Given the description of an element on the screen output the (x, y) to click on. 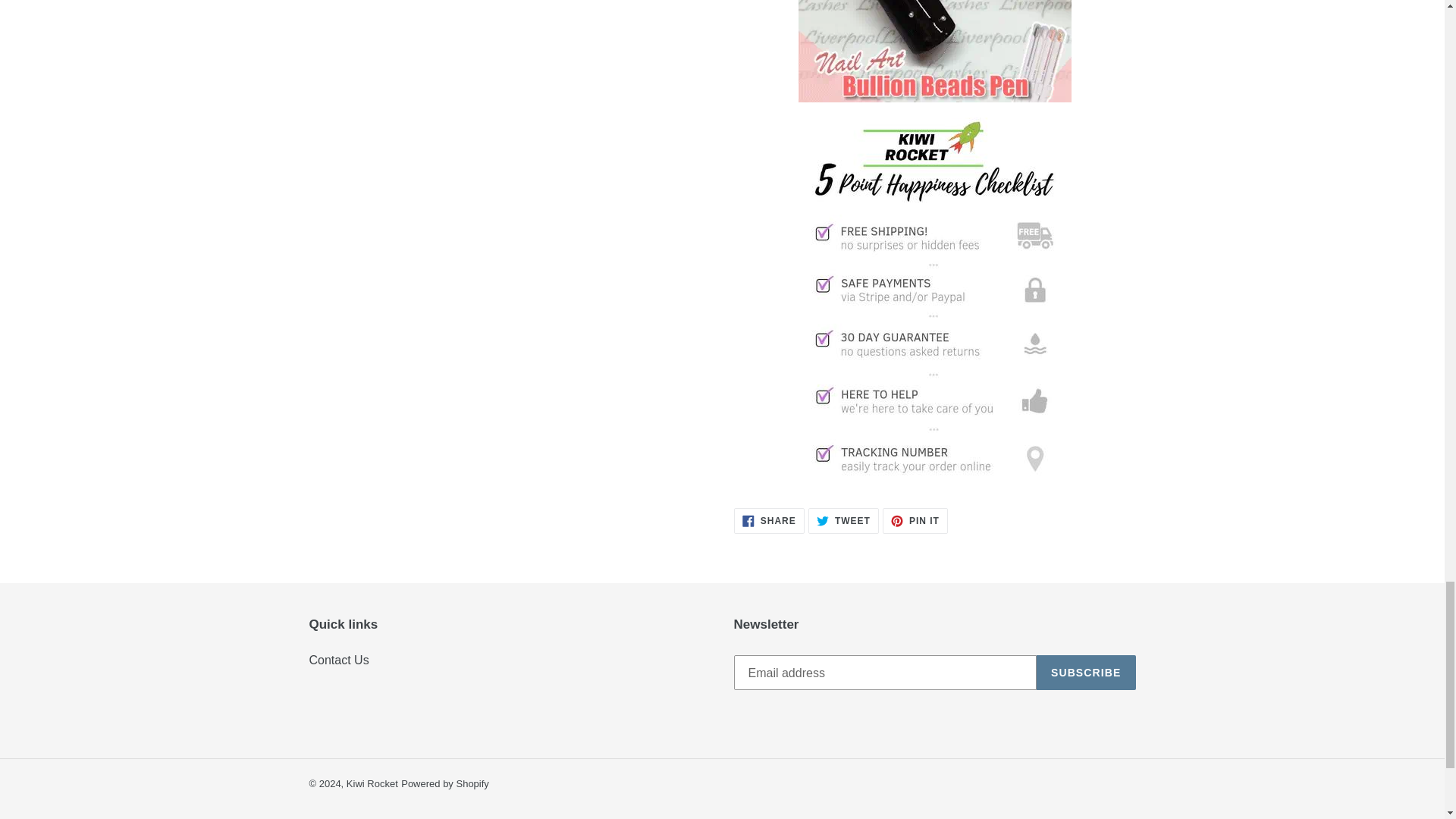
SUBSCRIBE (1085, 672)
Kiwi Rocket (371, 783)
Powered by Shopify (914, 520)
Contact Us (445, 783)
